Given the description of an element on the screen output the (x, y) to click on. 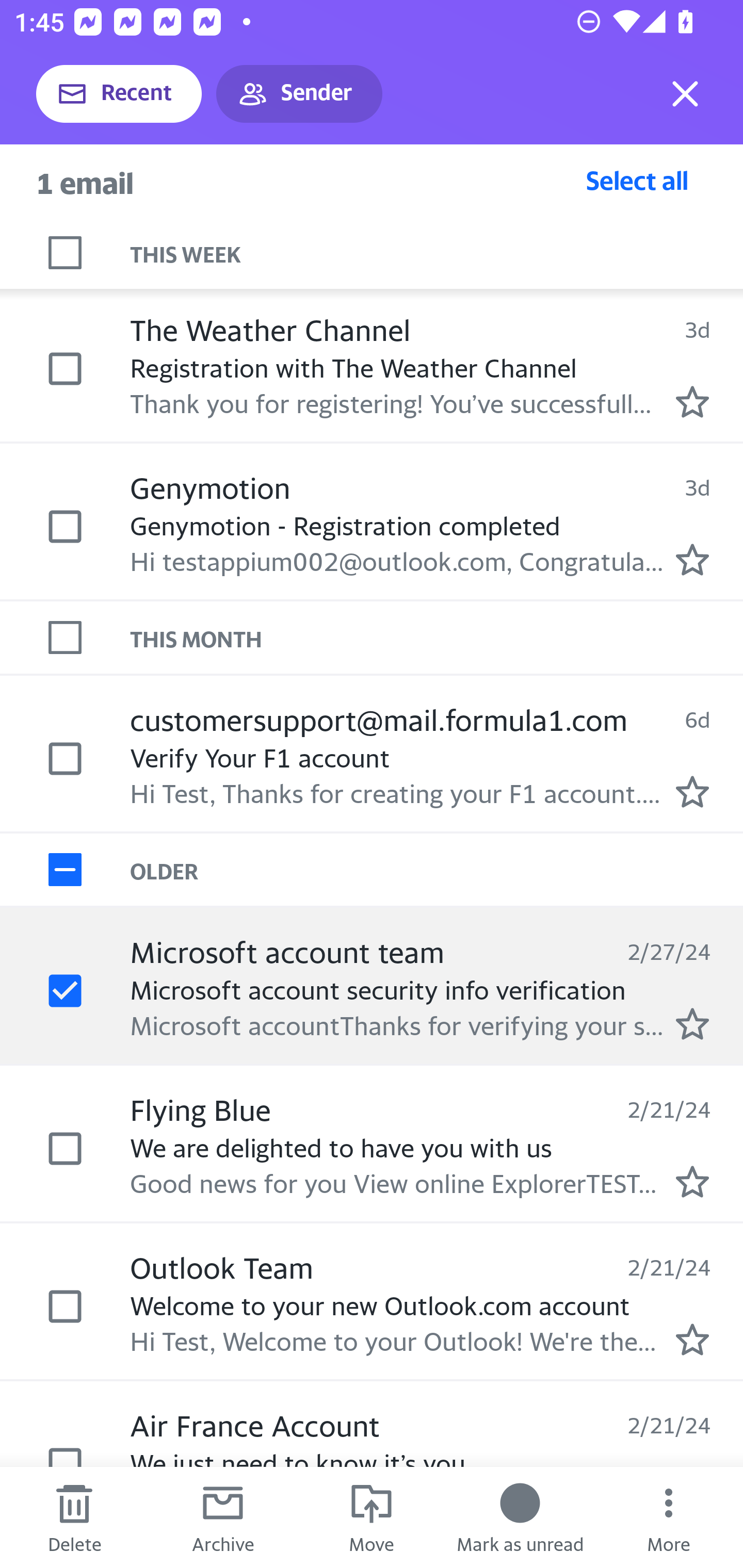
Sender (299, 93)
Exit selection mode (684, 93)
Select all (637, 180)
Mark as starred. (692, 402)
Mark as starred. (692, 558)
THIS MONTH (436, 637)
Mark as starred. (692, 791)
OLDER (436, 869)
Mark as starred. (692, 1023)
Mark as starred. (692, 1181)
Mark as starred. (692, 1339)
Delete (74, 1517)
Archive (222, 1517)
Move (371, 1517)
Mark as unread (519, 1517)
More (668, 1517)
